Given the description of an element on the screen output the (x, y) to click on. 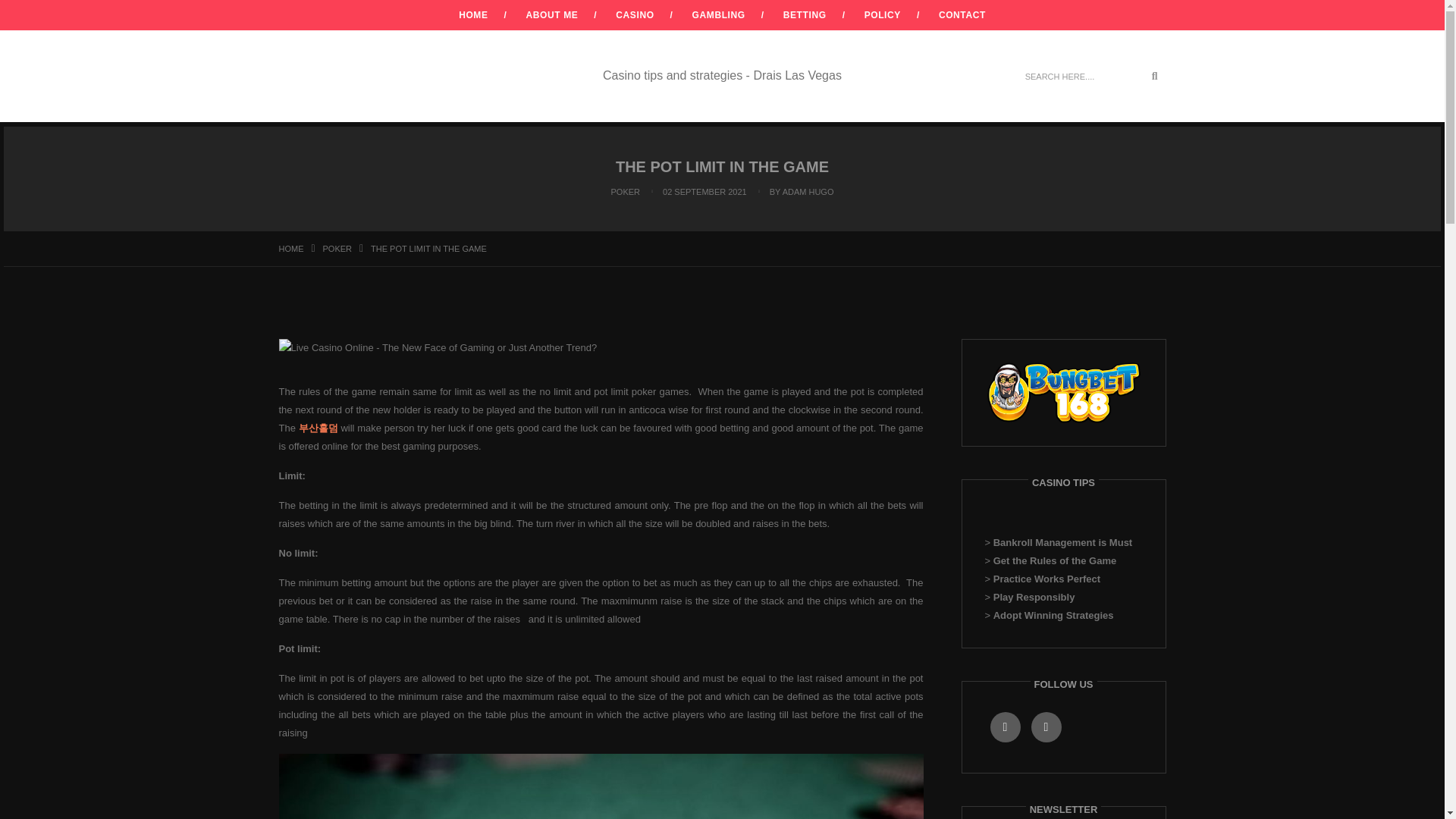
POKER (625, 191)
BETTING (804, 15)
GAMBLING (718, 15)
Browse to: Home (291, 248)
HOME (291, 248)
ABOUT ME (551, 15)
CASINO (634, 15)
POLICY (882, 15)
ADAM HUGO (808, 191)
Poker (337, 248)
CONTACT (962, 15)
HOME (472, 15)
Casino tips and strategies - Drais Las Vegas (721, 75)
POKER (337, 248)
